Given the description of an element on the screen output the (x, y) to click on. 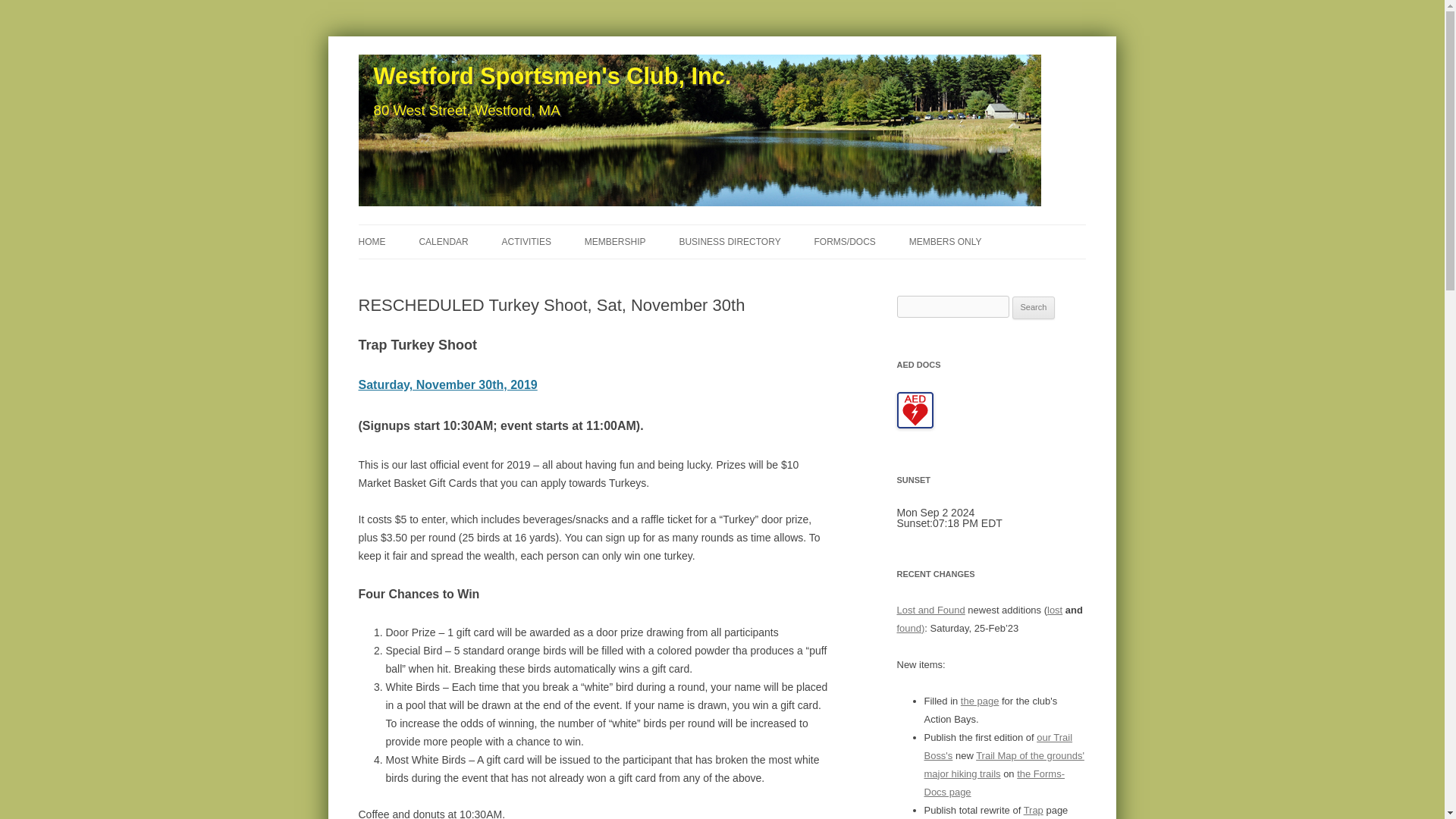
ACTIVITIES (526, 241)
MEMBERSHIP (615, 241)
Skip to content (757, 229)
Westford Sportsmen's Club, Inc. (547, 75)
BUSINESS DIRECTORY (729, 241)
Search (1033, 307)
CALENDAR (443, 241)
Skip to content (757, 229)
Westford Sportsmen's Club, Inc. (547, 75)
